Given the description of an element on the screen output the (x, y) to click on. 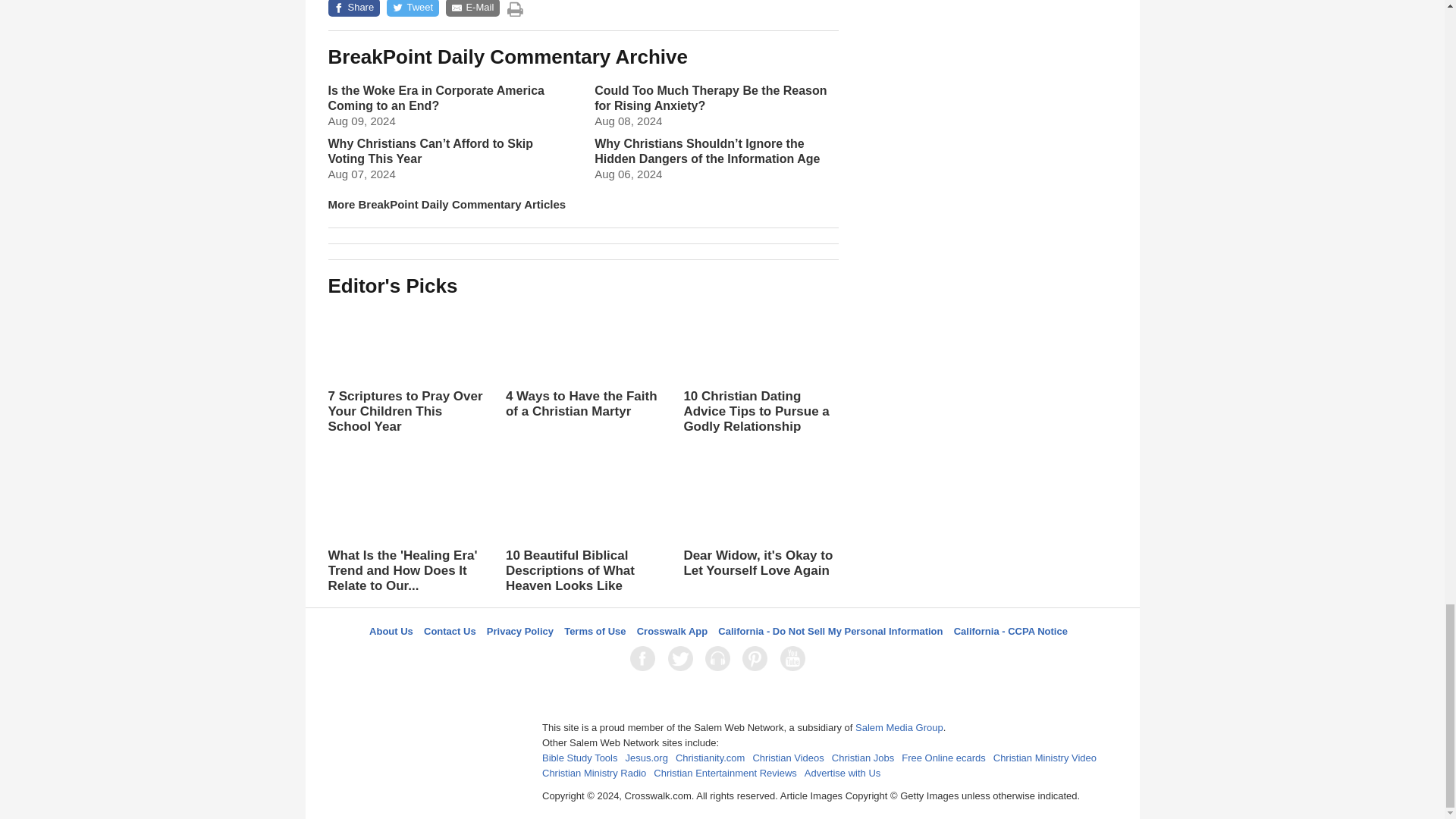
Dear Widow, it's Okay to Let Yourself Love Again (760, 535)
Facebook (645, 658)
10 Beautiful Biblical Descriptions of What Heaven Looks Like (583, 528)
YouTube (795, 658)
LifeAudio (719, 658)
Twitter (683, 658)
Pinterest (757, 658)
4 Ways to Have the Faith of a Christian Martyr (583, 361)
7 Scriptures to Pray Over Your Children This School Year (404, 368)
